Given the description of an element on the screen output the (x, y) to click on. 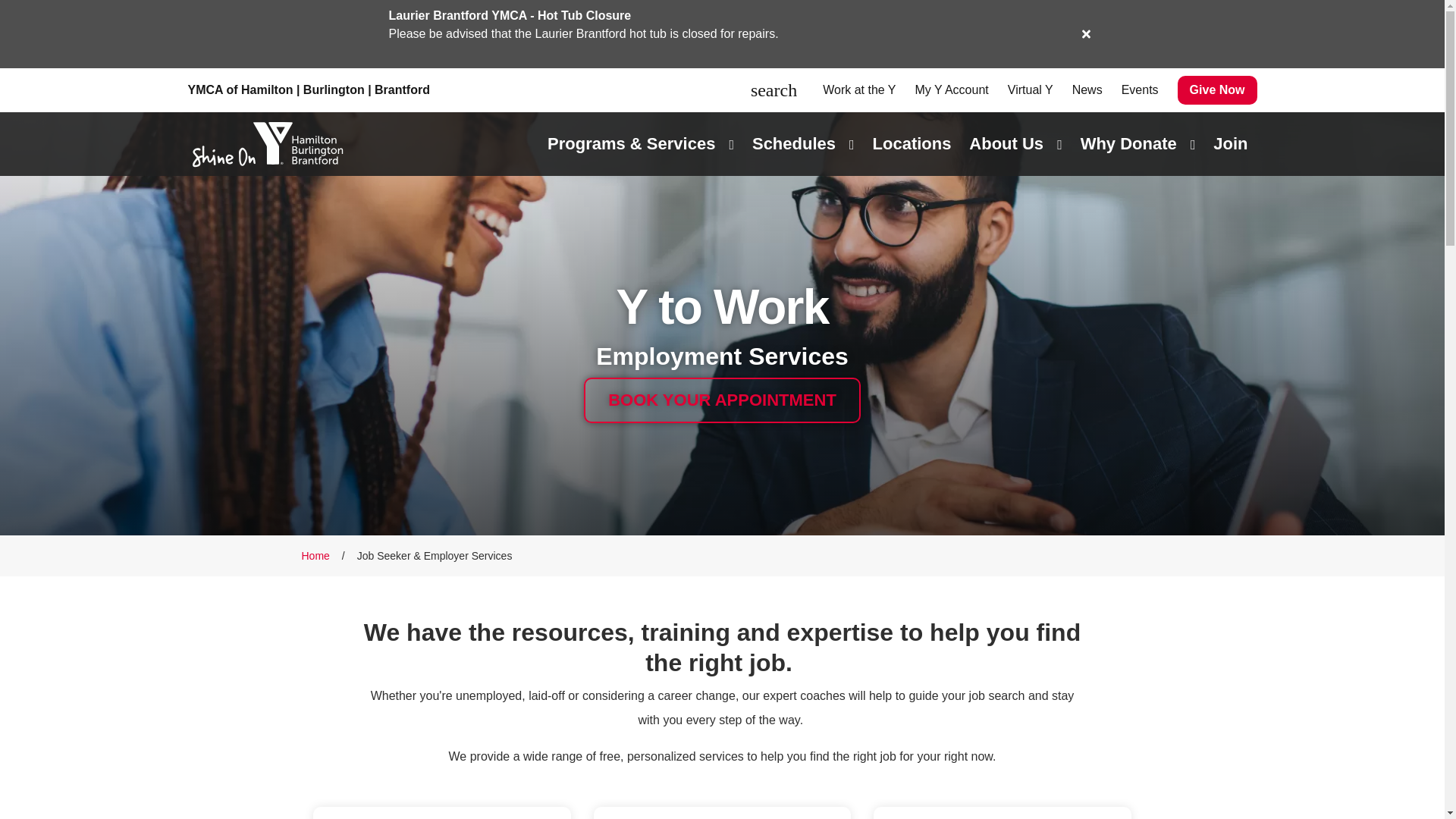
Close alert Laurier Brantford YMCA - Hot Tub Closure (1086, 33)
